Given the description of an element on the screen output the (x, y) to click on. 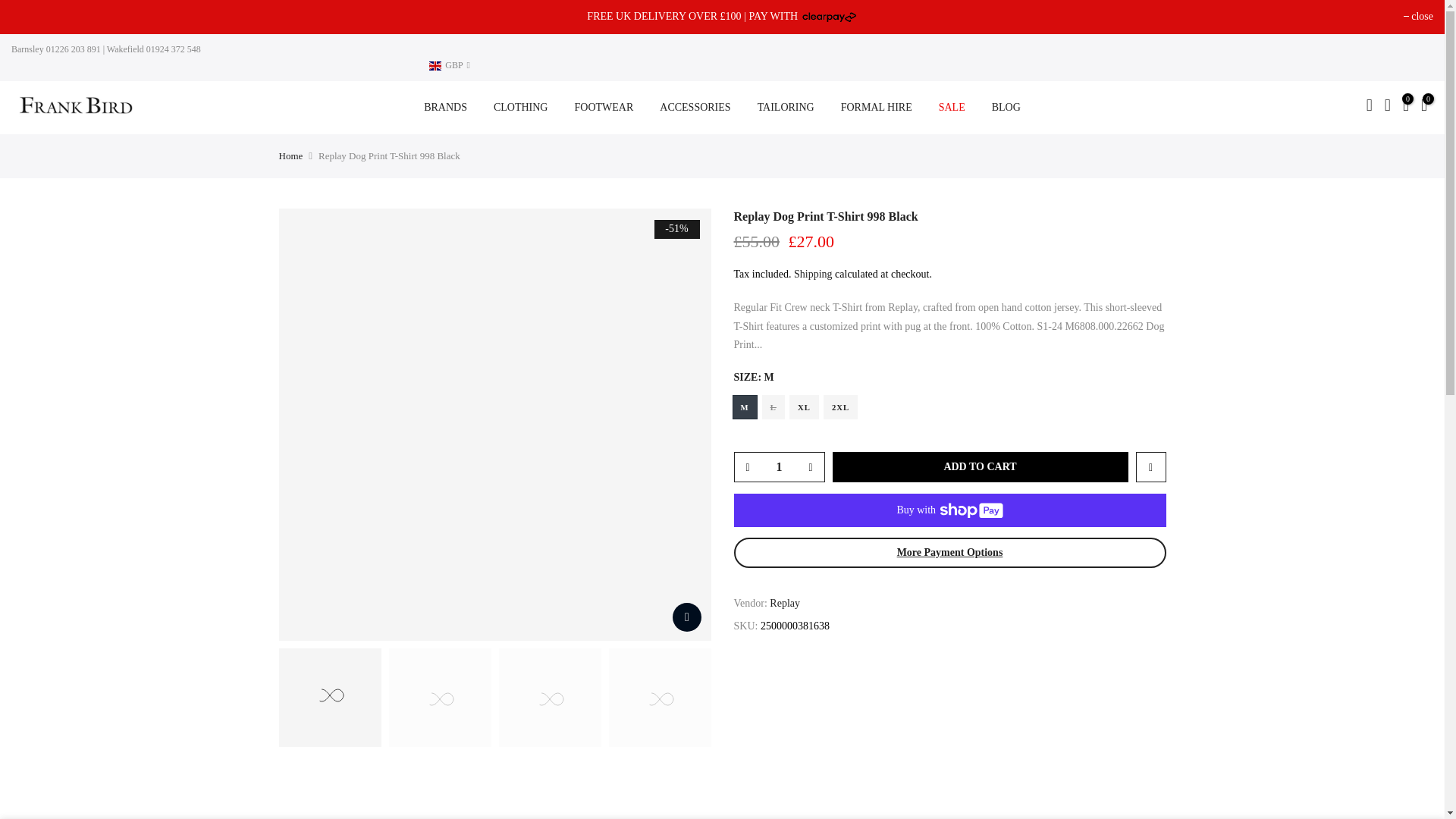
close (1417, 16)
1 (778, 466)
01924 372 548 (172, 49)
01226 203 891 (71, 49)
Replay (784, 603)
